Given the description of an element on the screen output the (x, y) to click on. 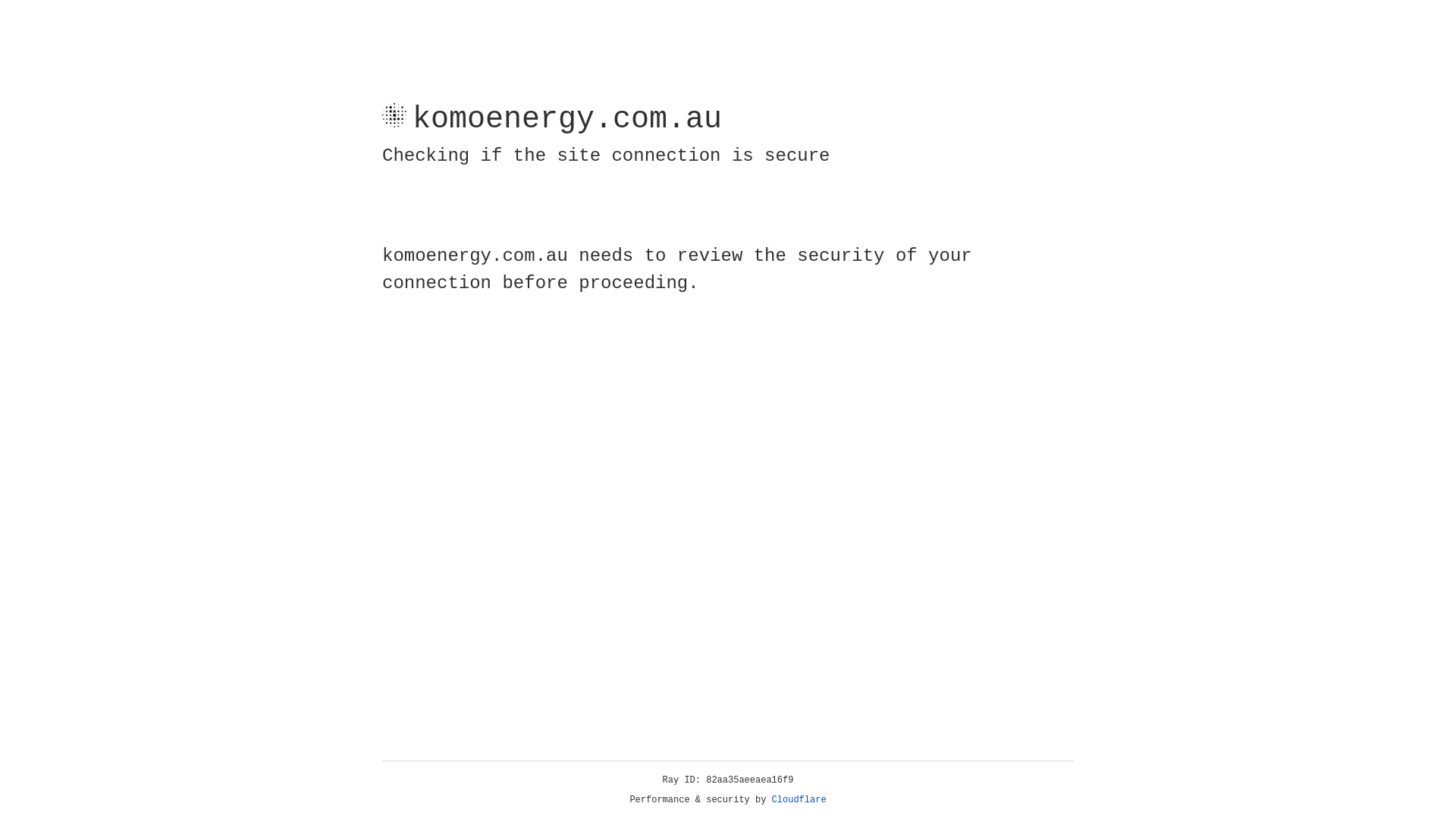
Cloudflare Element type: text (798, 799)
